Given the description of an element on the screen output the (x, y) to click on. 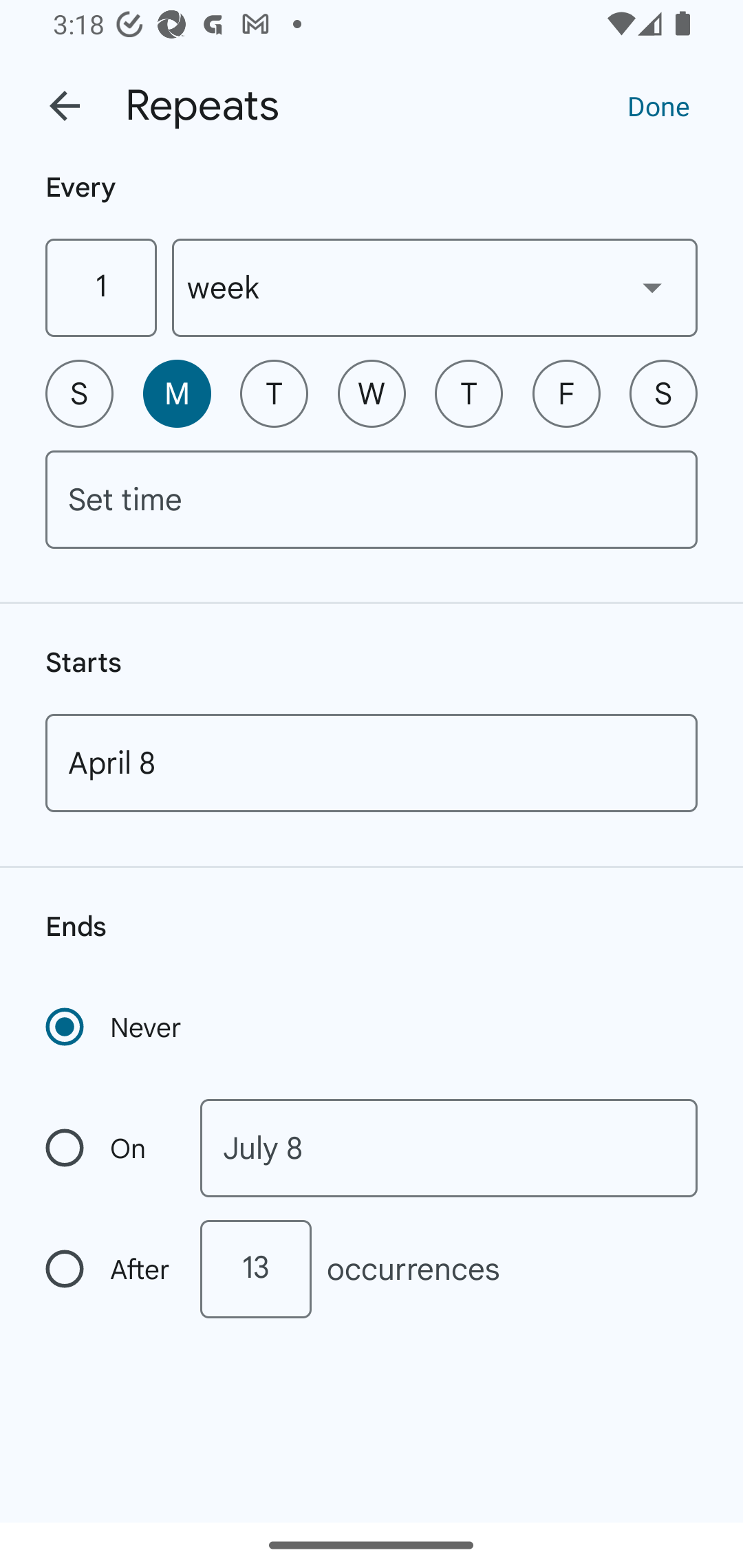
Back (64, 105)
Done (658, 105)
1 (100, 287)
week (434, 287)
Show dropdown menu (652, 286)
S Sunday (79, 393)
M Monday, selected (177, 393)
T Tuesday (273, 393)
W Wednesday (371, 393)
T Thursday (468, 393)
F Friday (566, 393)
S Saturday (663, 393)
Set time (371, 499)
April 8 (371, 762)
Never Recurrence never ends (115, 1026)
July 8 (448, 1148)
On Recurrence ends on a specific date (109, 1148)
13 (255, 1268)
